Given the description of an element on the screen output the (x, y) to click on. 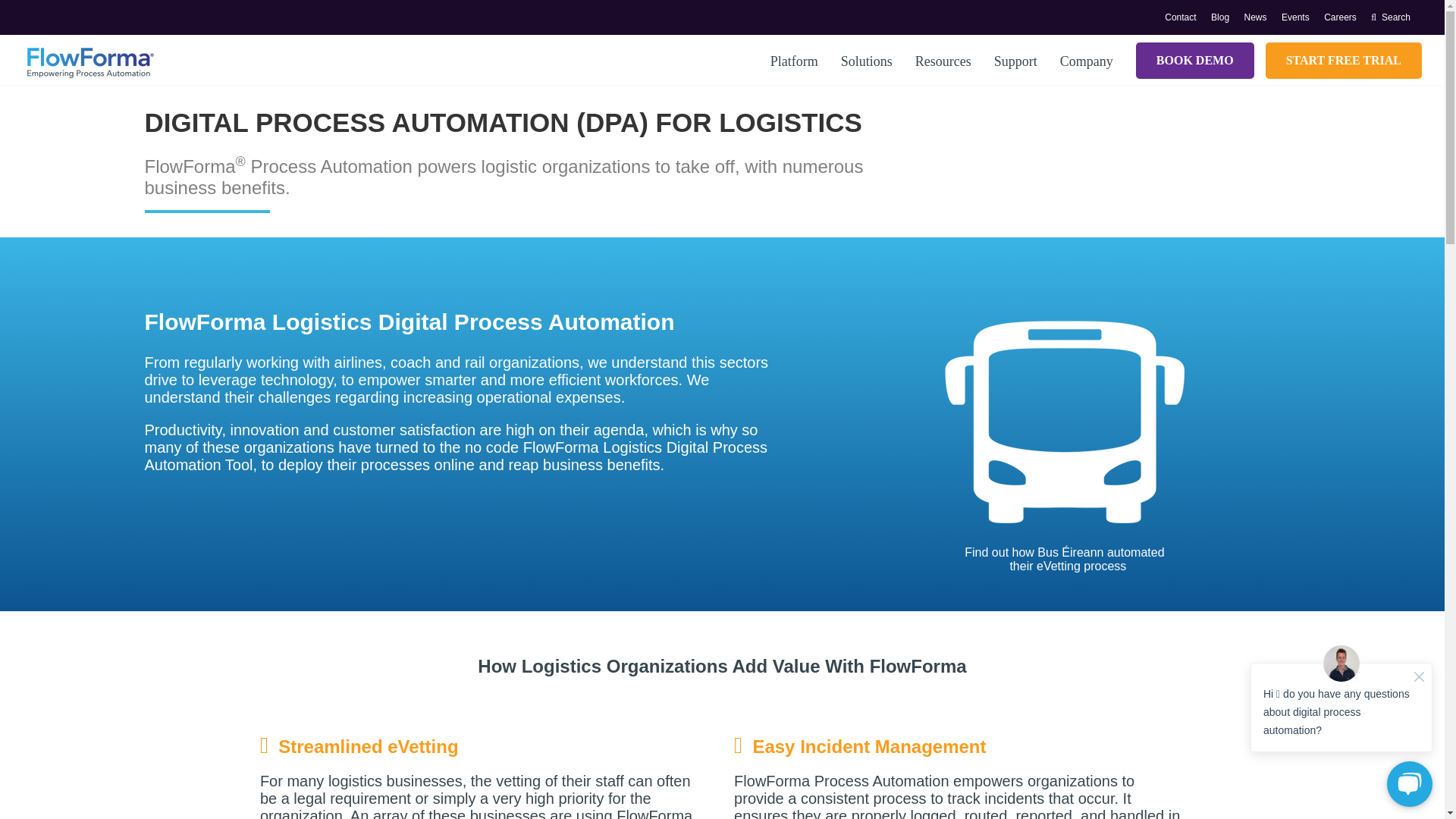
Contact (1185, 17)
FlowForma Process Automation (89, 61)
Search (1396, 17)
Platform (794, 61)
Careers (1345, 17)
News (1261, 17)
Solutions (866, 61)
Events (1300, 17)
